Given the description of an element on the screen output the (x, y) to click on. 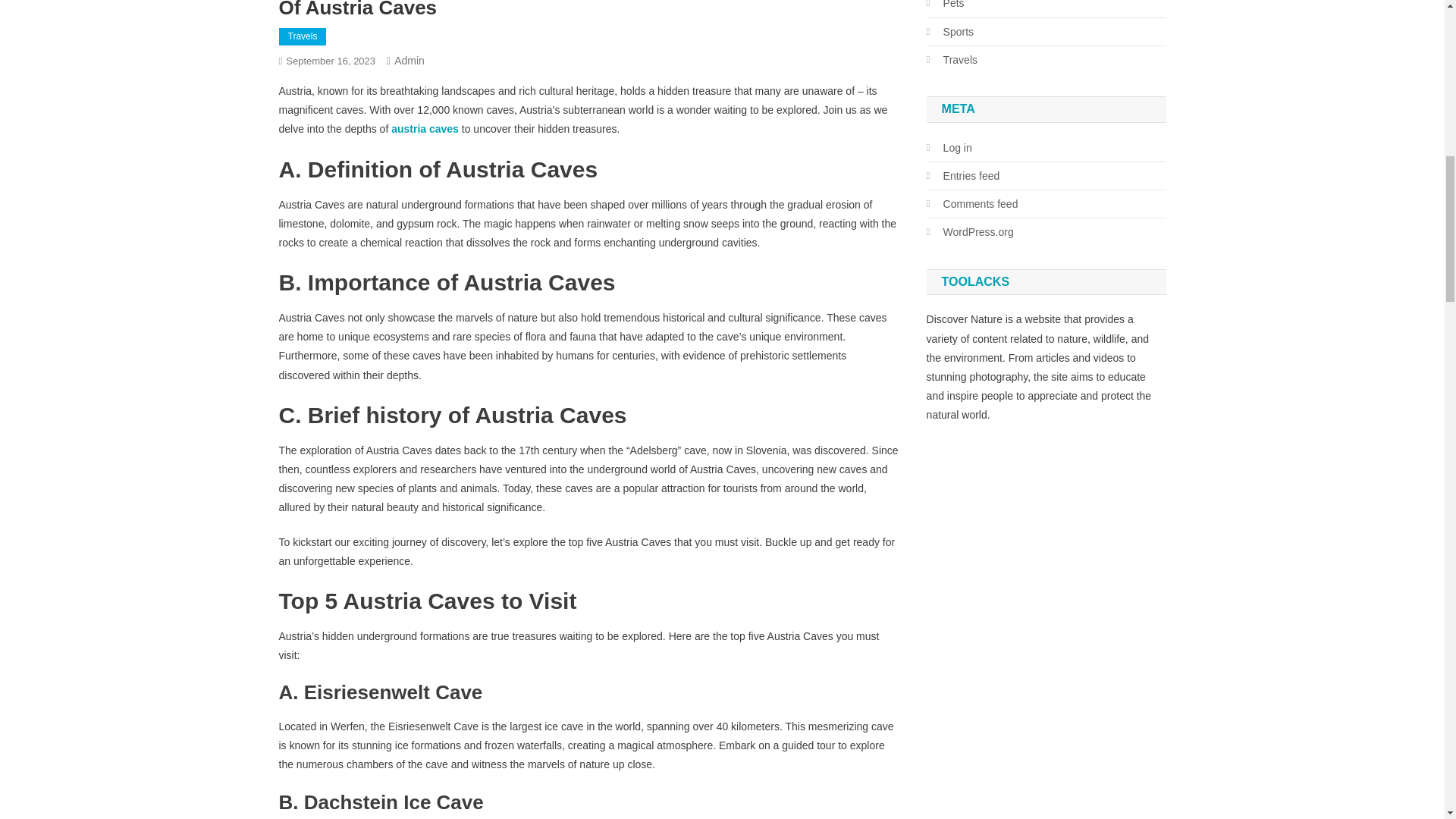
Travels (302, 36)
September 16, 2023 (330, 60)
Admin (409, 60)
austria caves (424, 128)
